Given the description of an element on the screen output the (x, y) to click on. 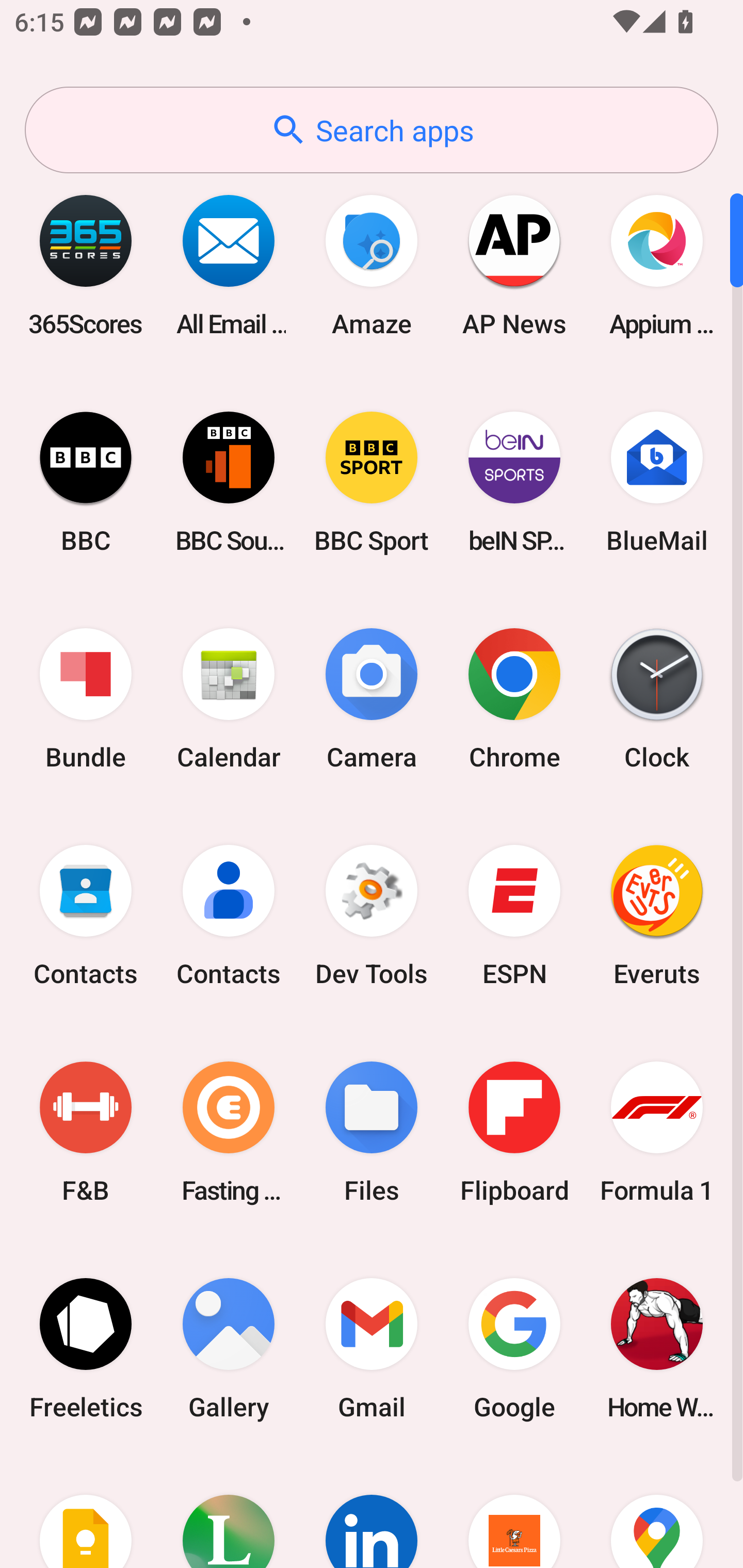
  Search apps (371, 130)
365Scores (85, 264)
All Email Connect (228, 264)
Amaze (371, 264)
AP News (514, 264)
Appium Settings (656, 264)
BBC (85, 482)
BBC Sounds (228, 482)
BBC Sport (371, 482)
beIN SPORTS (514, 482)
BlueMail (656, 482)
Bundle (85, 699)
Calendar (228, 699)
Camera (371, 699)
Chrome (514, 699)
Clock (656, 699)
Contacts (85, 915)
Contacts (228, 915)
Dev Tools (371, 915)
ESPN (514, 915)
Everuts (656, 915)
F&B (85, 1131)
Fasting Coach (228, 1131)
Files (371, 1131)
Flipboard (514, 1131)
Formula 1 (656, 1131)
Freeletics (85, 1348)
Gallery (228, 1348)
Gmail (371, 1348)
Google (514, 1348)
Home Workout (656, 1348)
Keep Notes (85, 1512)
Lifesum (228, 1512)
LinkedIn (371, 1512)
Little Caesars Pizza (514, 1512)
Maps (656, 1512)
